Given the description of an element on the screen output the (x, y) to click on. 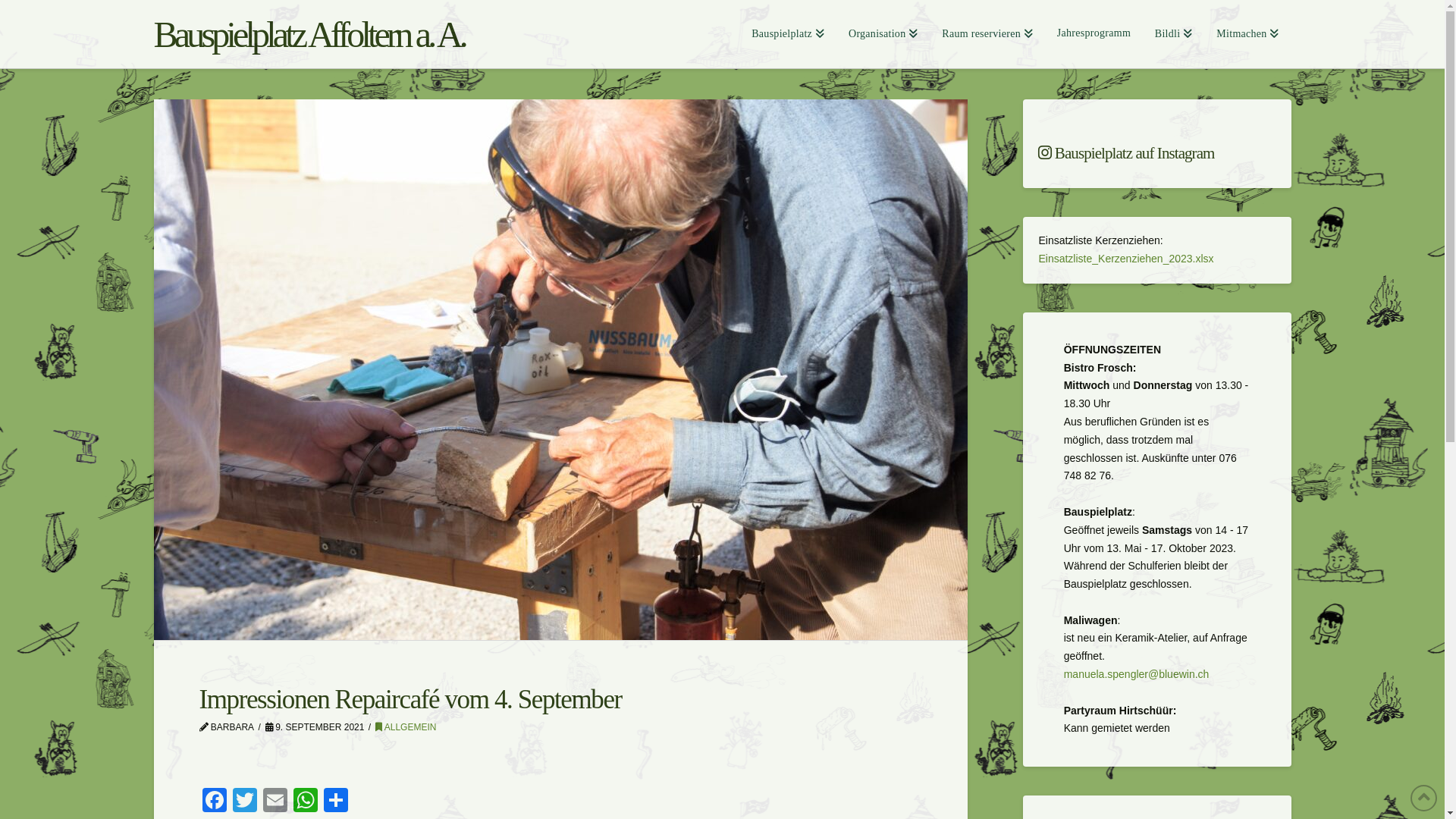
WhatsApp Element type: text (304, 801)
Raum reservieren Element type: text (986, 34)
Bauspielplatz Affoltern a. A. Element type: text (308, 34)
ALLGEMEIN Element type: text (405, 726)
Bauspielplatz auf Instagram Element type: text (1156, 153)
Bildli Element type: text (1173, 34)
Back to Top Element type: hover (1423, 797)
Bauspielplatz Element type: text (787, 34)
Facebook Element type: text (213, 801)
Teilen Element type: text (335, 801)
Einsatzliste_Kerzenziehen_2023.xlsx Element type: text (1125, 258)
manuela.spengler@bluewin.ch Element type: text (1136, 674)
Mitmachen Element type: text (1247, 34)
Jahresprogramm Element type: text (1093, 34)
Organisation Element type: text (882, 34)
Email Element type: text (274, 801)
Twitter Element type: text (244, 801)
